Given the description of an element on the screen output the (x, y) to click on. 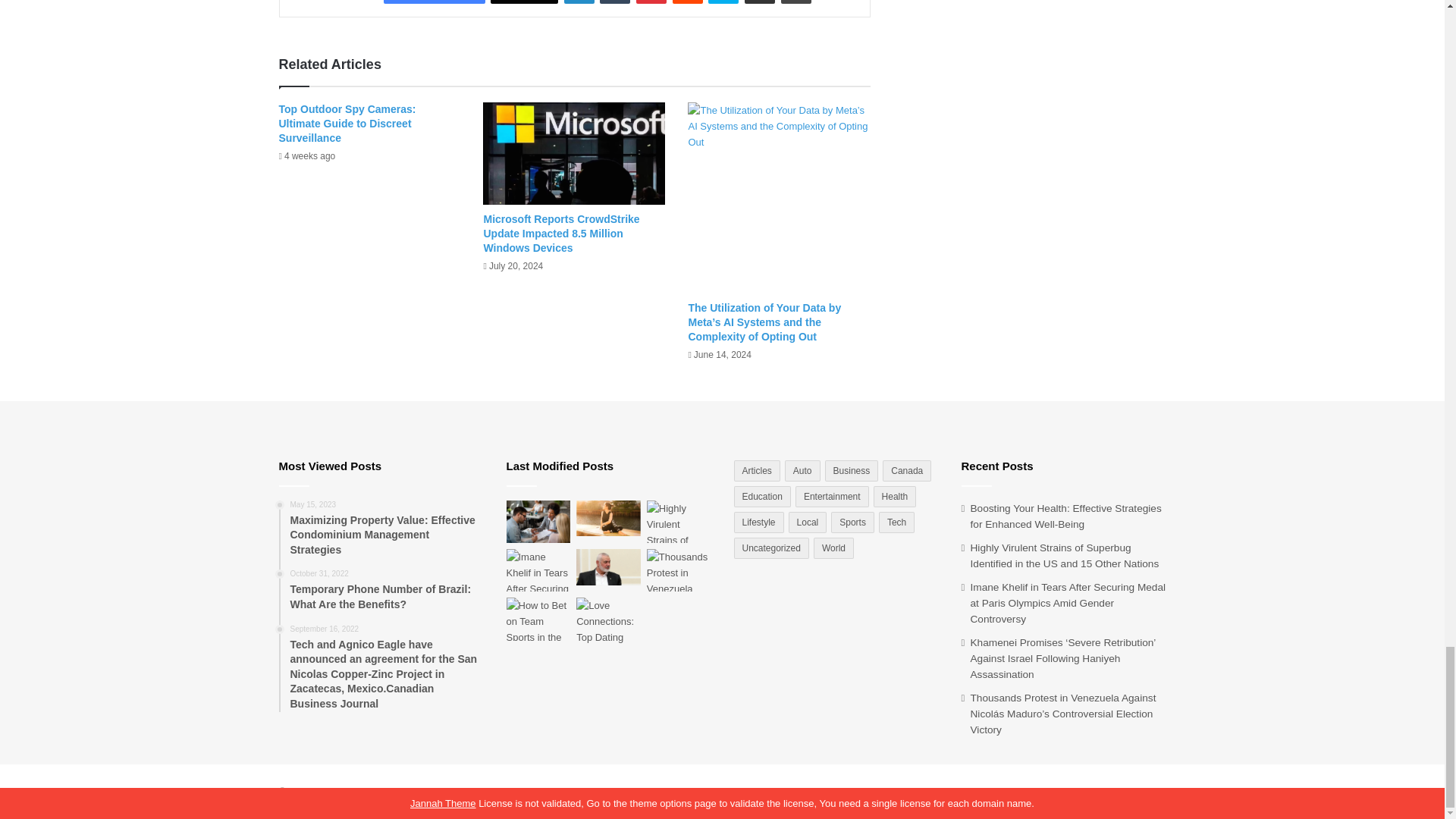
X (523, 2)
Skype (722, 2)
Facebook (434, 2)
Pinterest (651, 2)
Reddit (687, 2)
Facebook (434, 2)
LinkedIn (579, 2)
Share via Email (759, 2)
Print (795, 2)
Tumblr (614, 2)
